Given the description of an element on the screen output the (x, y) to click on. 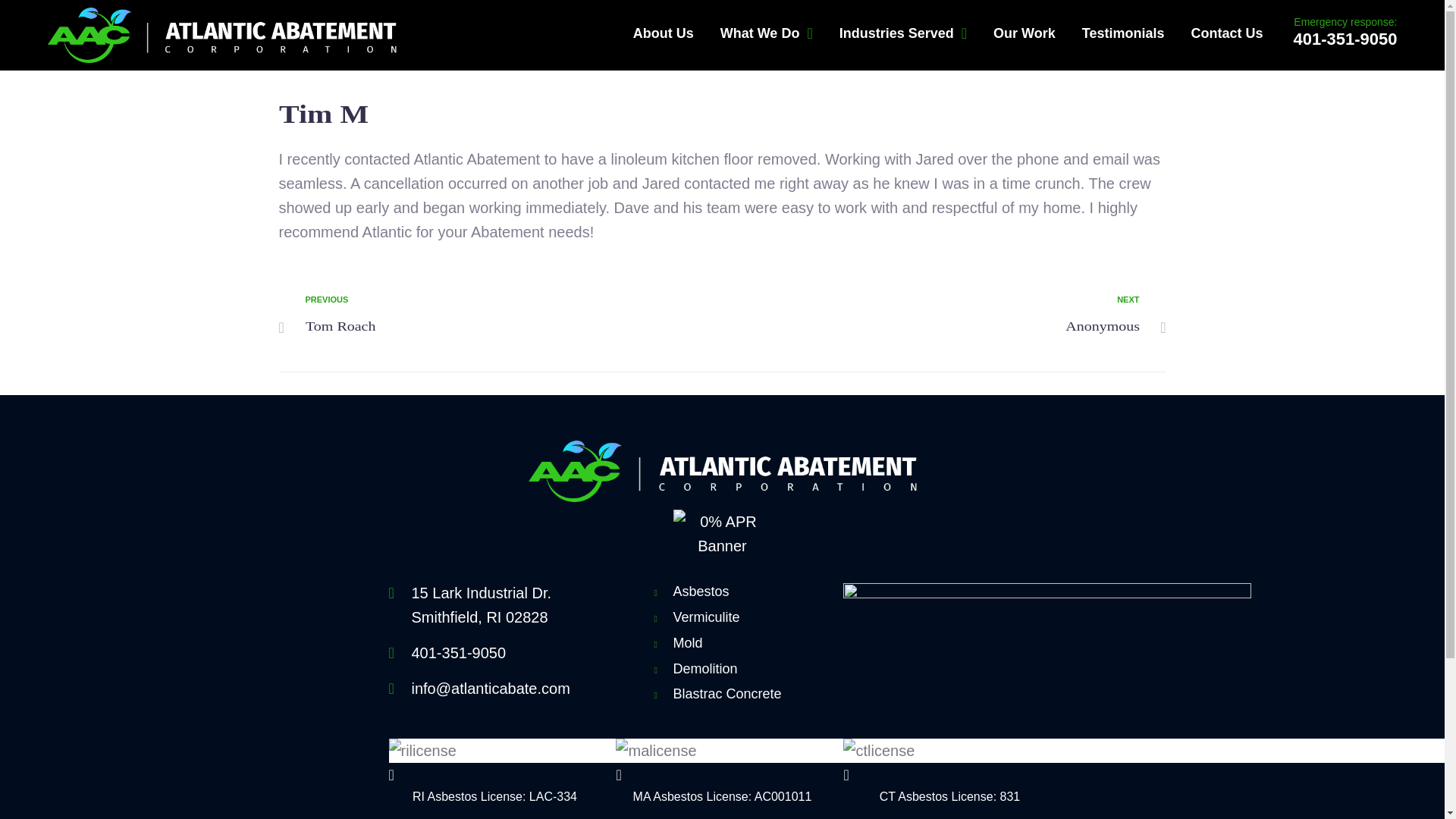
Testimonials (1123, 33)
Industries Served (902, 33)
401-351-9050 (493, 652)
401-351-9050 (1344, 38)
Blastrac Concrete (740, 694)
Our Work (1023, 33)
Demolition (740, 669)
What We Do (507, 315)
Mold (767, 33)
